Given the description of an element on the screen output the (x, y) to click on. 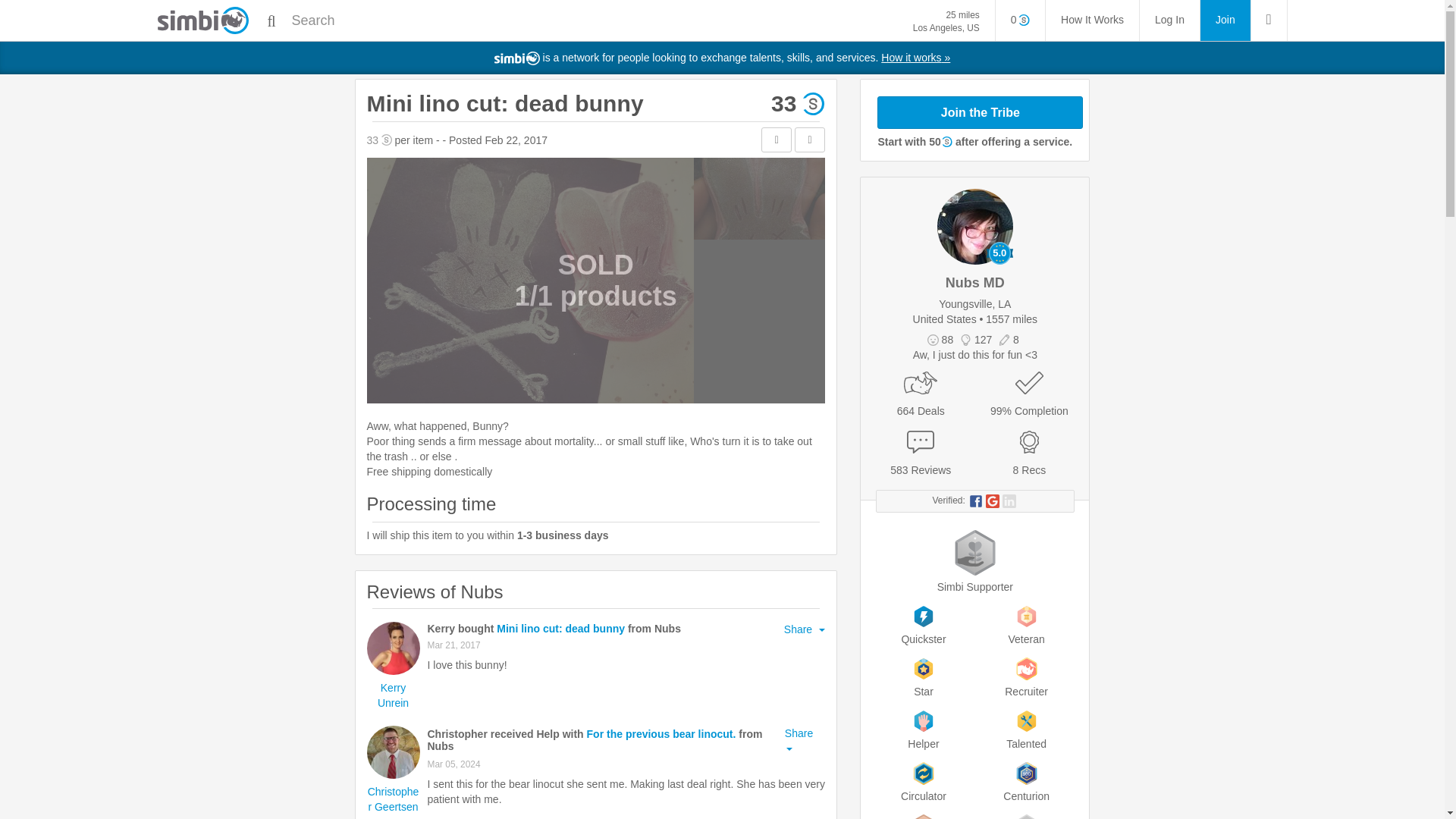
How It Works (1091, 20)
Log In (1169, 20)
Share (804, 629)
0 (1020, 20)
Join (945, 22)
Mini lino cut: dead bunny (1224, 20)
